Given the description of an element on the screen output the (x, y) to click on. 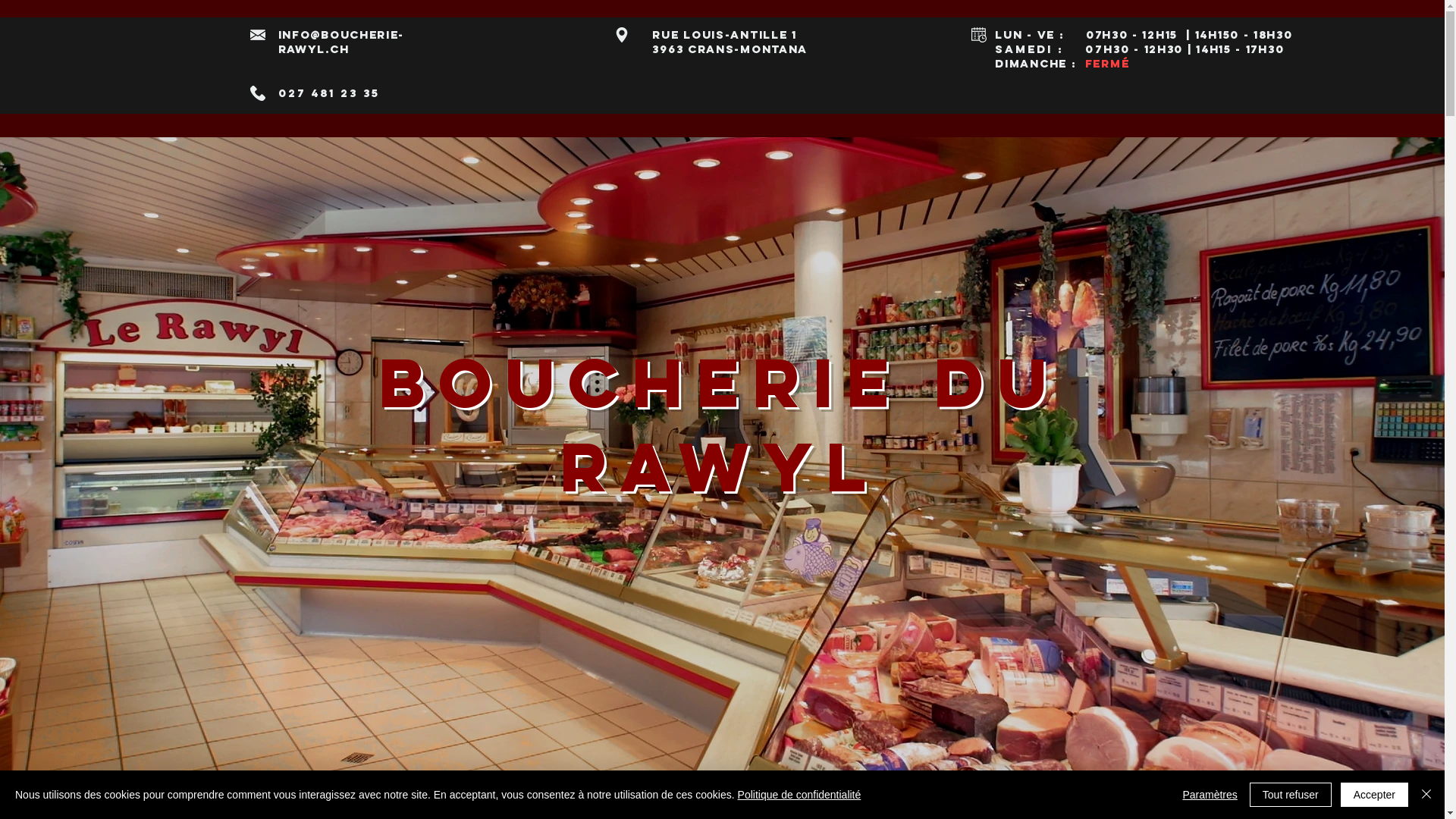
mail-phase-5-compressor.png Element type: hover (257, 92)
mail-phase-5-compressor.png Element type: hover (257, 34)
info@boucherie-rawyl.ch Element type: text (341, 41)
Accepter Element type: text (1374, 794)
maps-and-flags-phase-5-compressor.png Element type: hover (621, 34)
Tout refuser Element type: text (1290, 794)
